Given the description of an element on the screen output the (x, y) to click on. 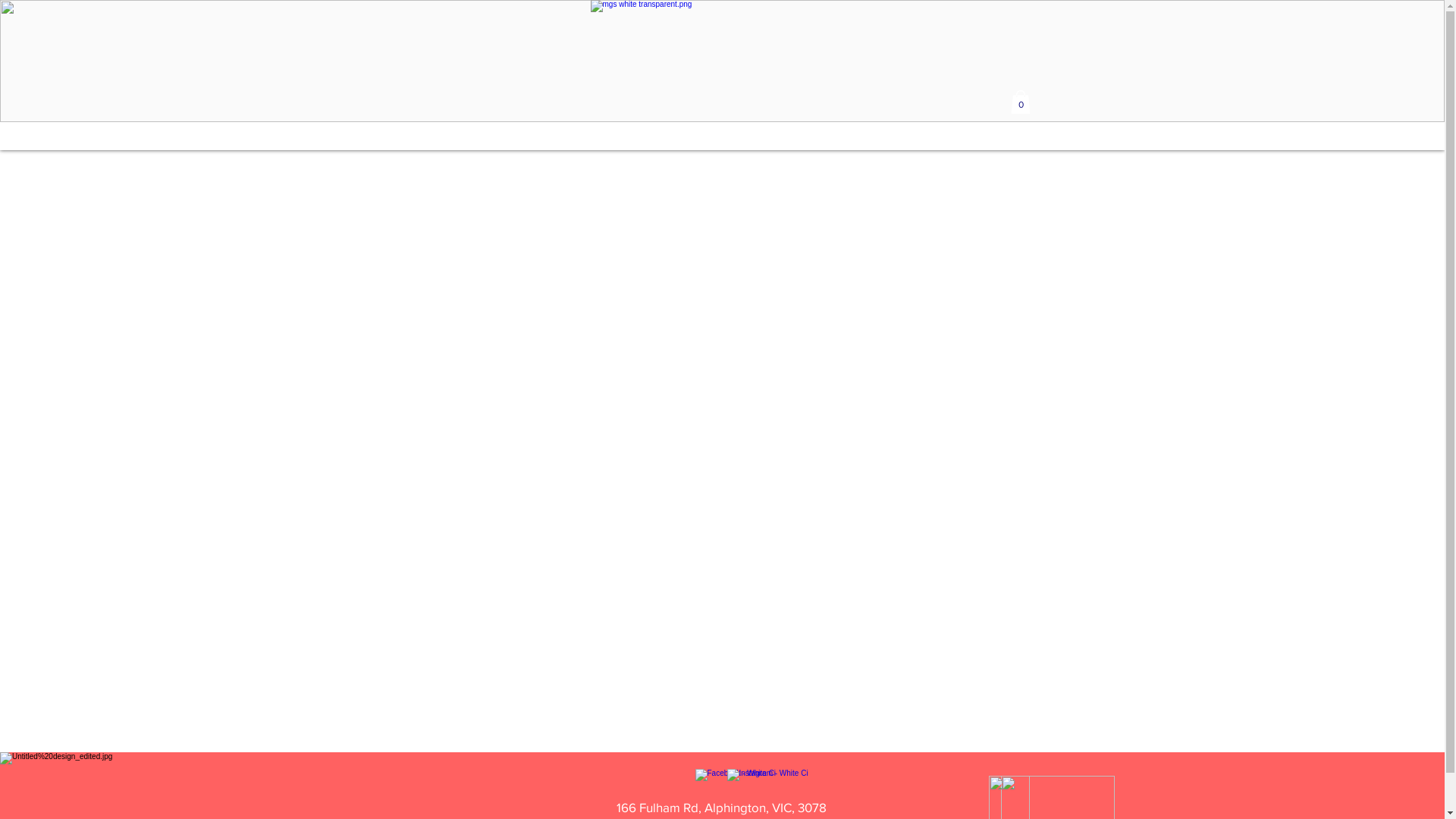
0 Element type: text (1019, 101)
